Given the description of an element on the screen output the (x, y) to click on. 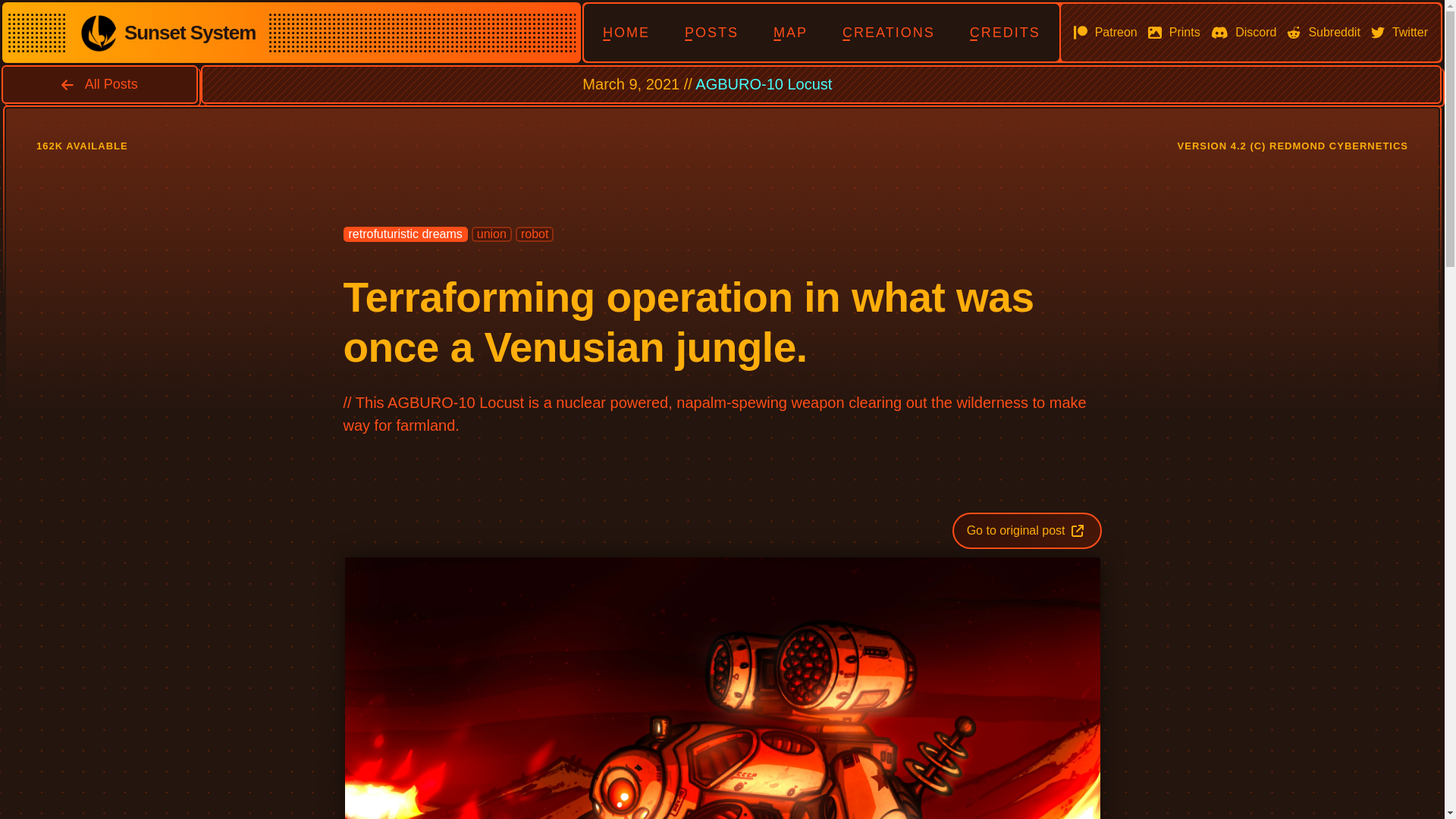
Prints (1173, 32)
Subreddit (1323, 32)
Twitter (1398, 32)
POSTS (711, 31)
Go to original post (1027, 530)
Sunset System (166, 32)
Patreon (1105, 32)
MAP (790, 31)
union (491, 233)
robot (534, 233)
CREDITS (1005, 31)
Discord (1243, 32)
All Posts (99, 84)
HOME (626, 31)
retrofuturistic dreams (404, 233)
